Given the description of an element on the screen output the (x, y) to click on. 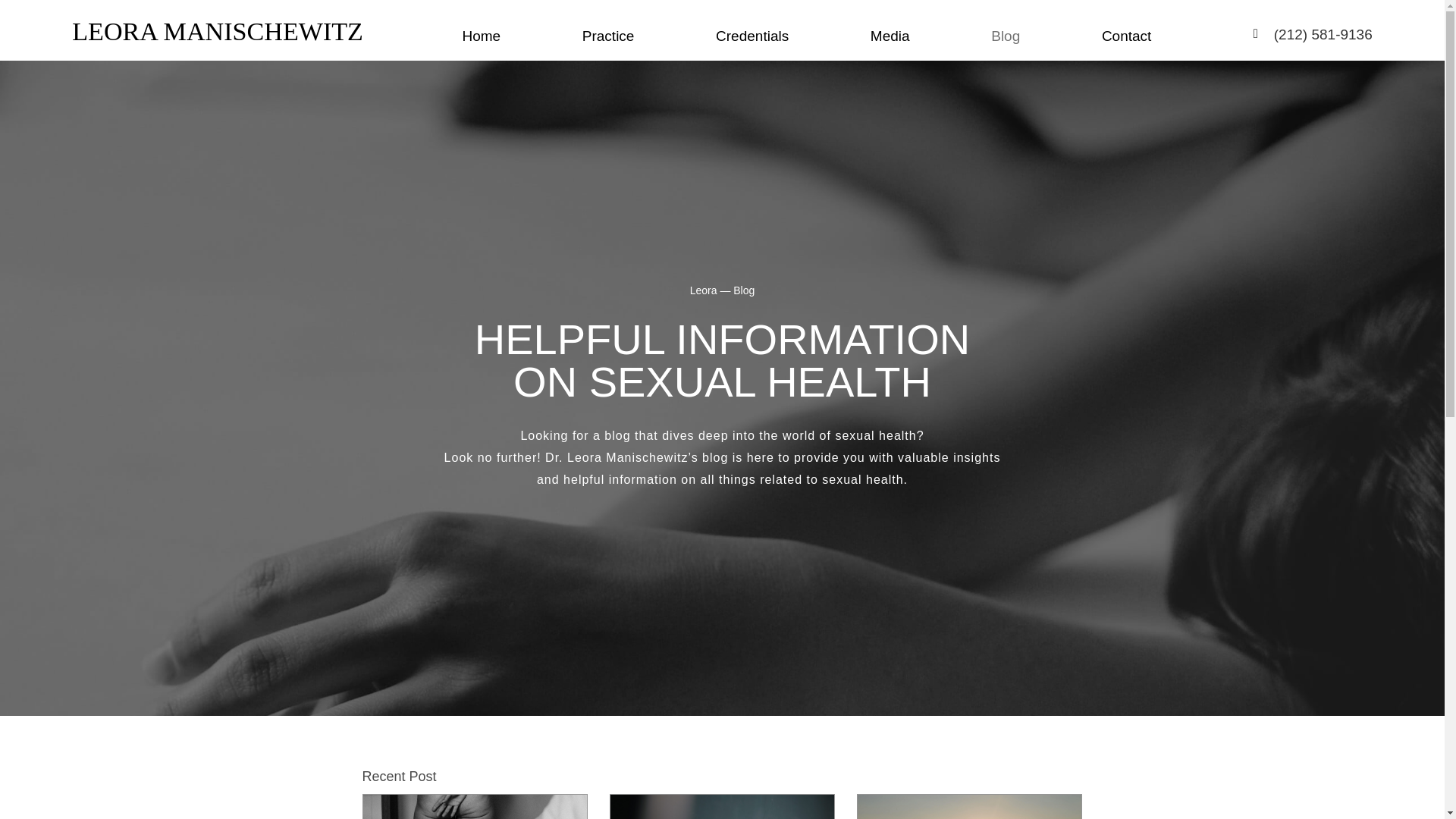
Home (480, 38)
Blog (1005, 38)
Practice (608, 38)
Contact (1126, 38)
Media (890, 38)
Credentials (752, 38)
